Given the description of an element on the screen output the (x, y) to click on. 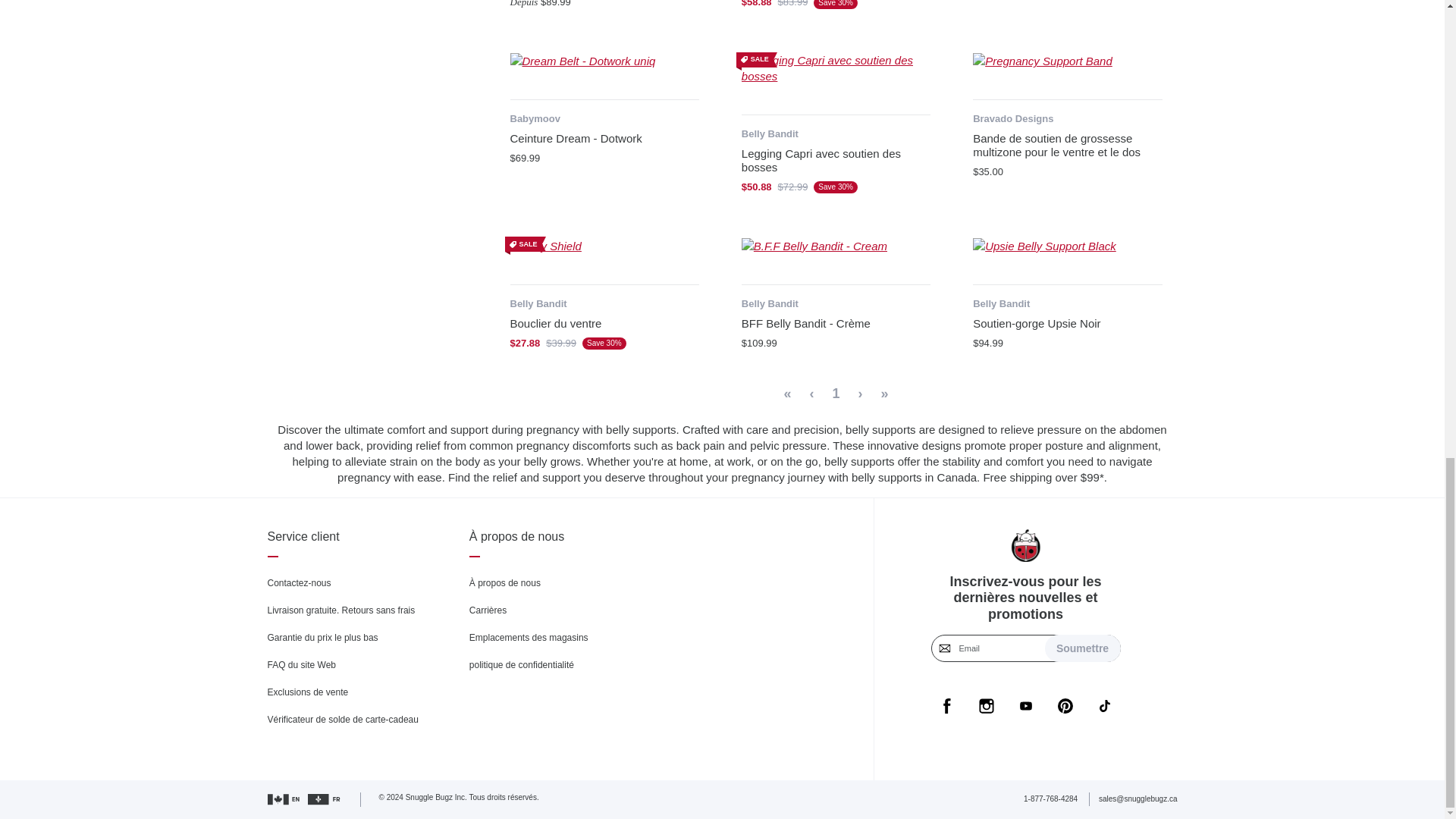
English (324, 798)
Anglais (283, 798)
